Given the description of an element on the screen output the (x, y) to click on. 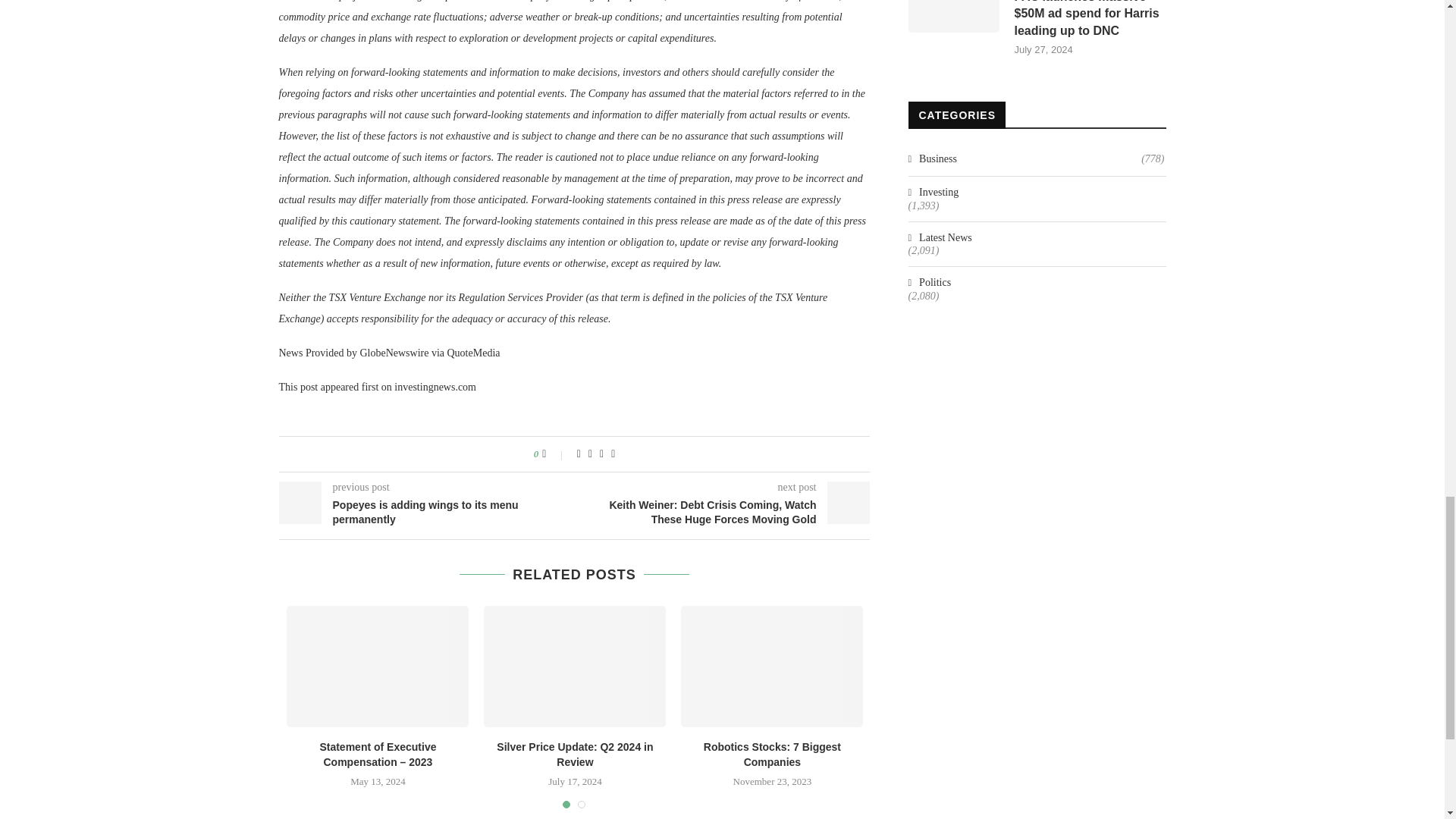
Robotics Stocks: 7 Biggest Companies (772, 754)
Popeyes is adding wings to its menu permanently (427, 512)
Silver Price Update: Q2 2024 in Review (574, 666)
Silver Price Update: Q2 2024 in Review (574, 754)
Robotics Stocks: 7 Biggest Companies (772, 666)
Like (553, 453)
